Given the description of an element on the screen output the (x, y) to click on. 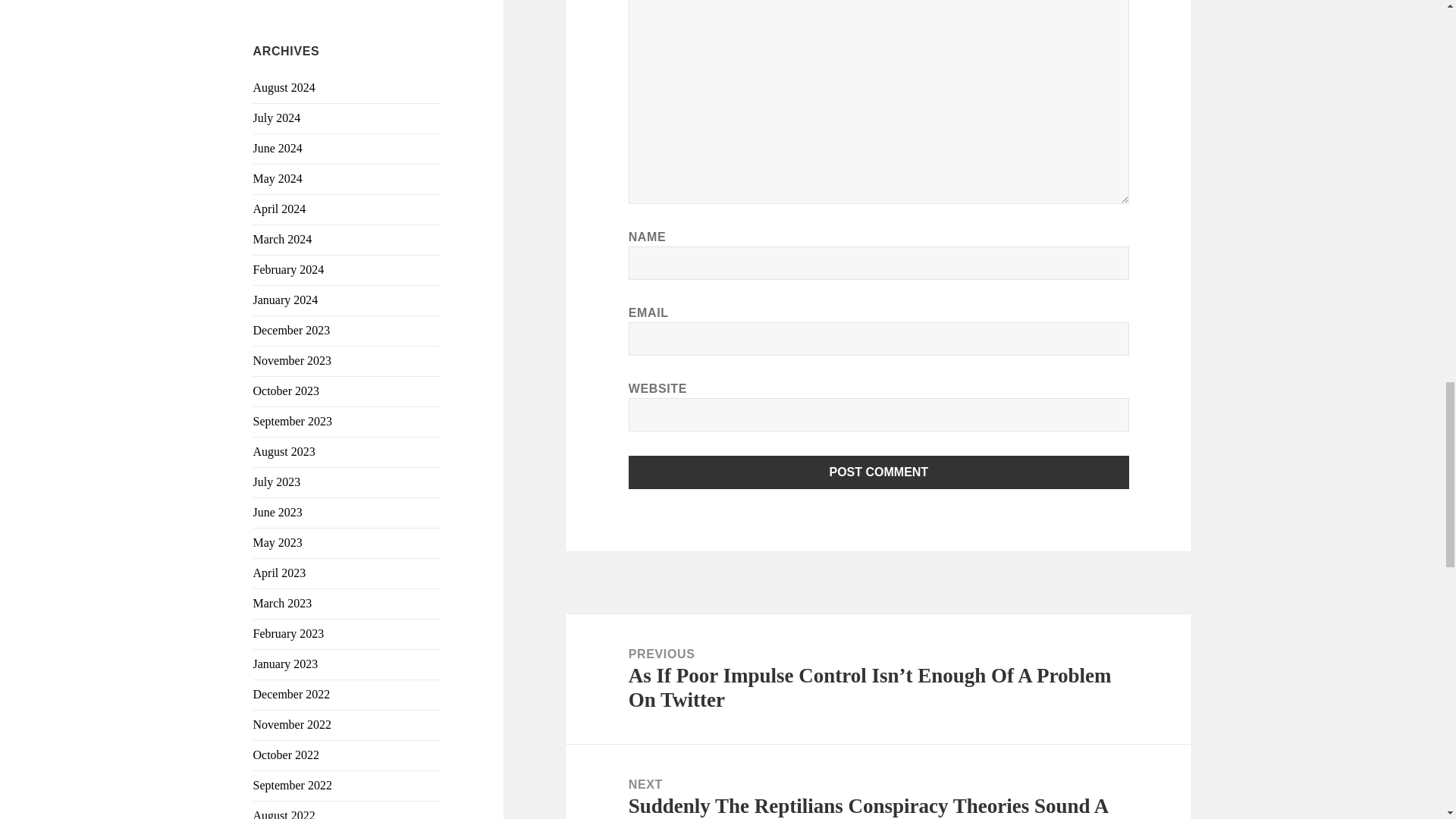
April 2023 (279, 572)
January 2024 (285, 299)
August 2023 (284, 451)
July 2023 (277, 481)
September 2023 (292, 420)
November 2023 (292, 359)
October 2023 (286, 390)
Post Comment (878, 471)
July 2024 (277, 117)
May 2024 (277, 178)
